Given the description of an element on the screen output the (x, y) to click on. 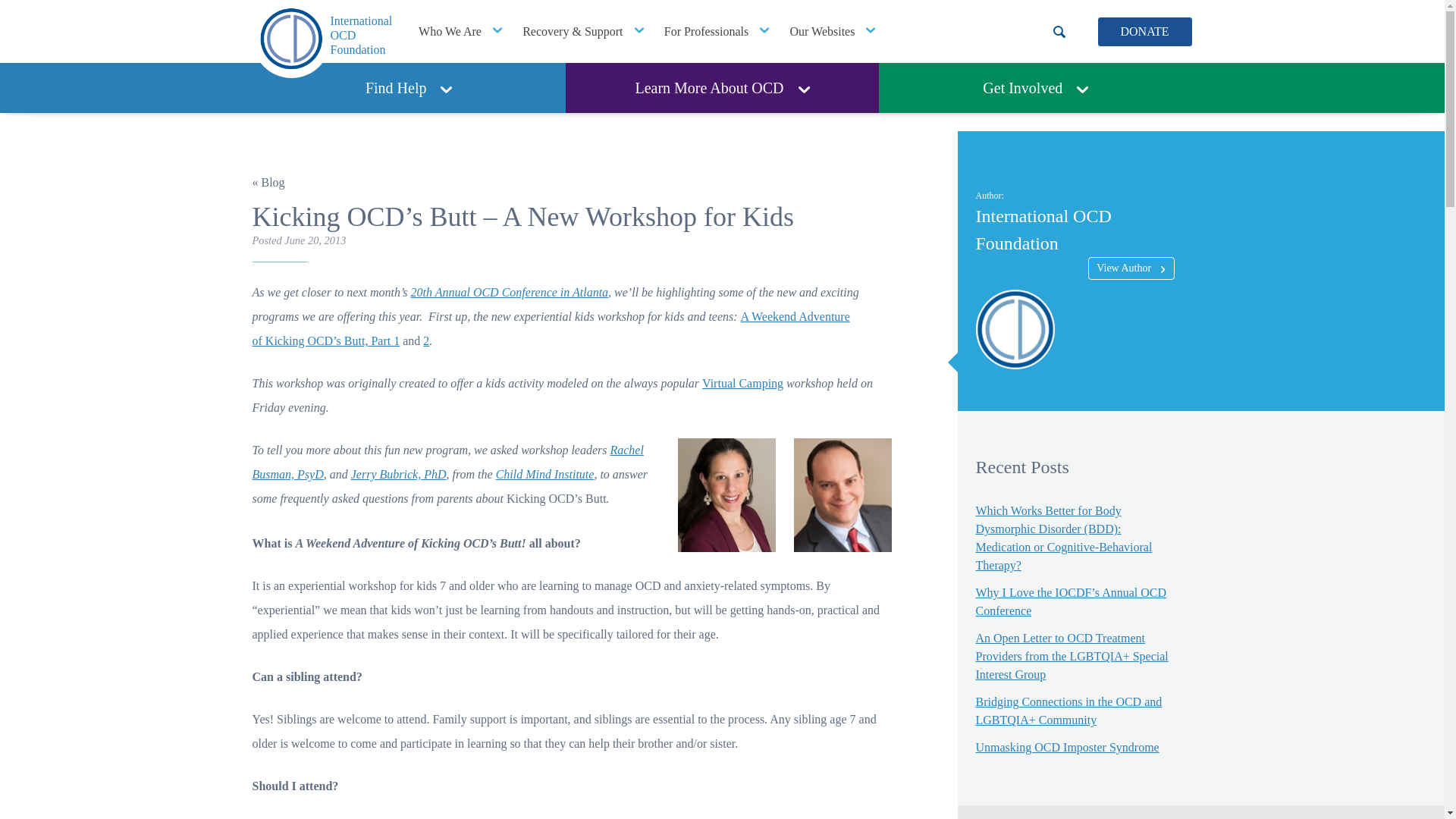
Our Network (831, 31)
DONATE (1144, 31)
Who We Are (459, 31)
Our Websites (831, 31)
Find Help (321, 38)
For Professionals (407, 88)
